Given the description of an element on the screen output the (x, y) to click on. 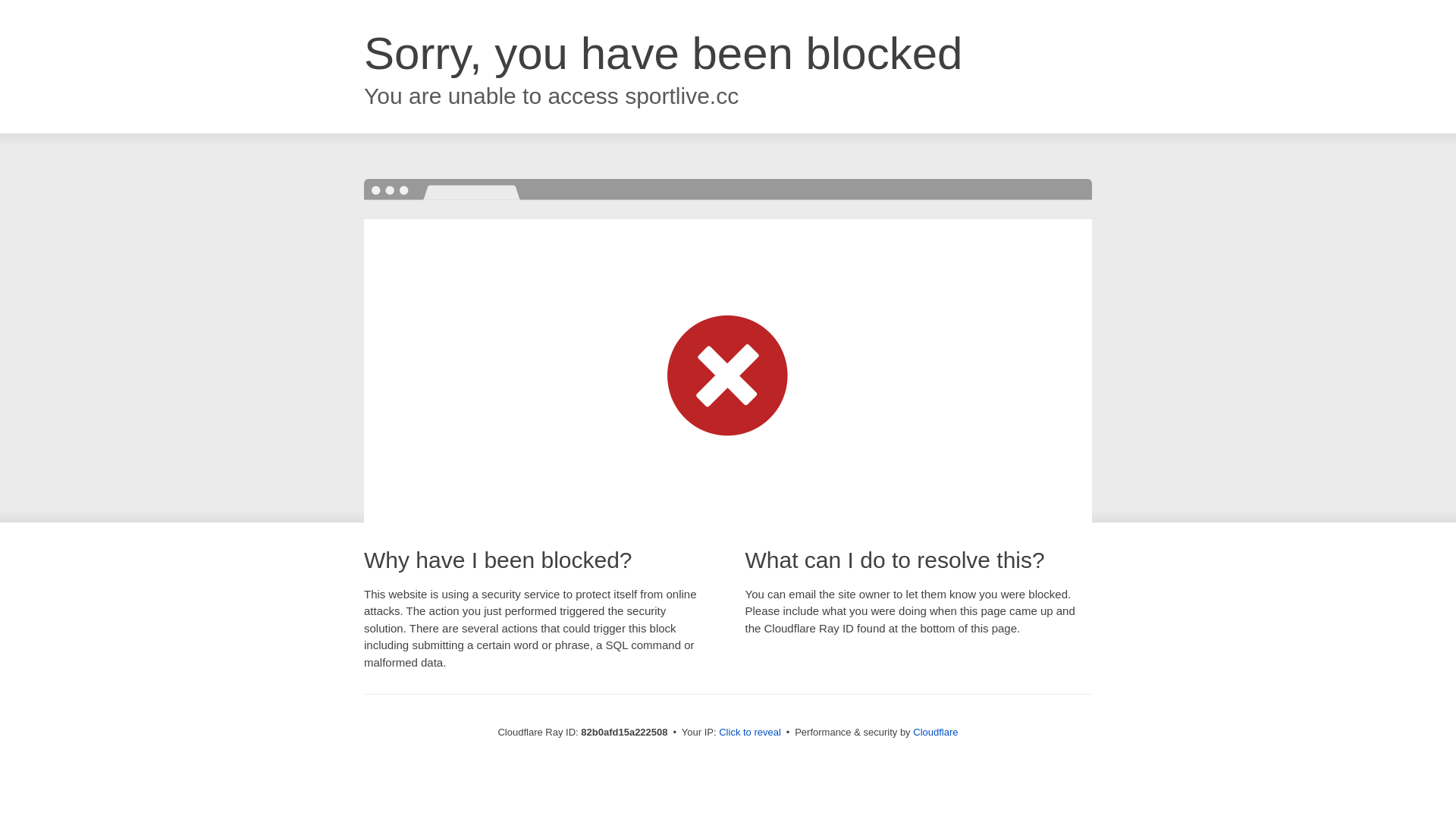
Click to reveal Element type: text (749, 732)
Cloudflare Element type: text (935, 731)
